Given the description of an element on the screen output the (x, y) to click on. 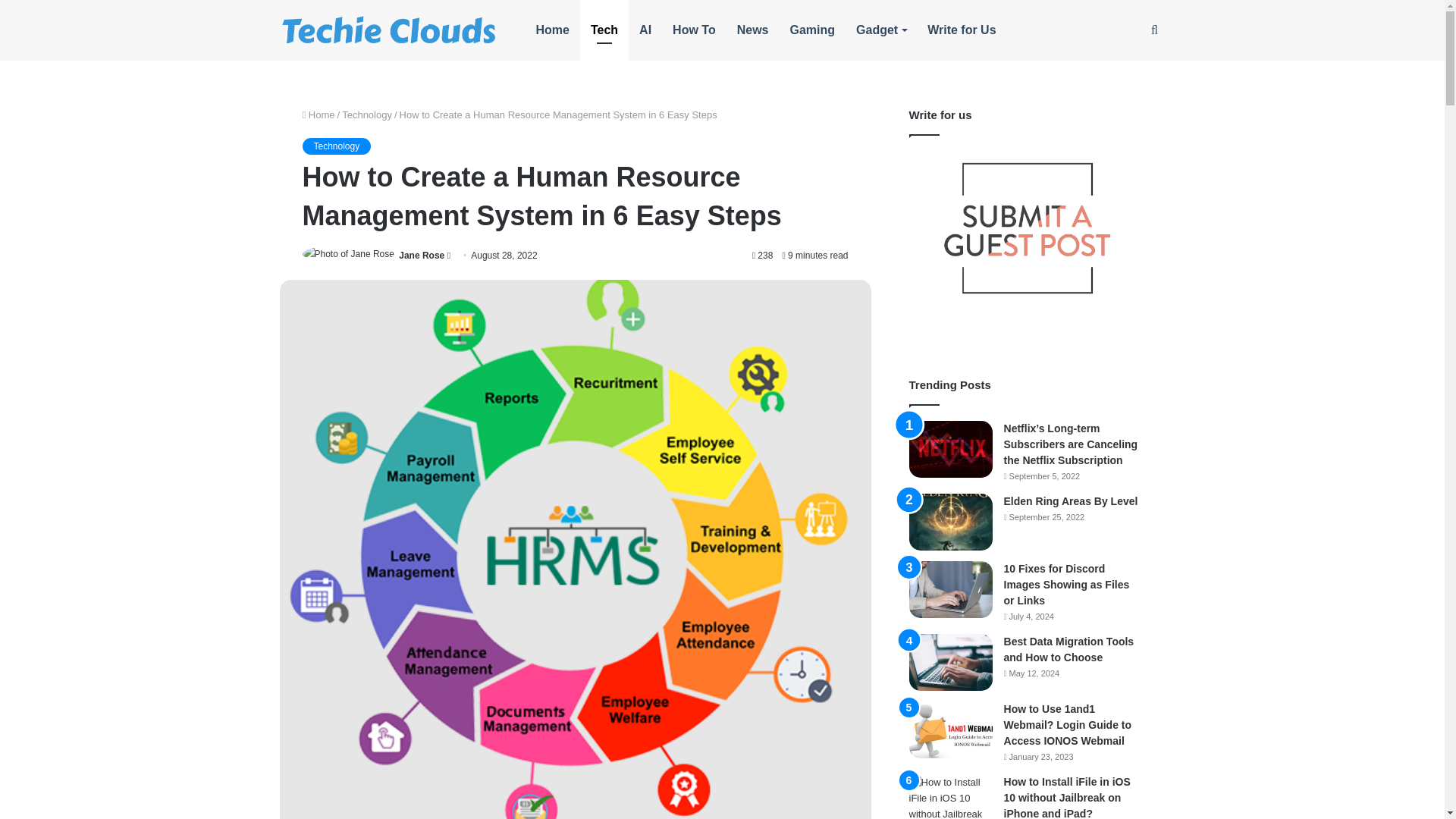
Gadget (881, 30)
Techie Clouds (389, 30)
Write for Us (961, 30)
Home (317, 114)
How To (694, 30)
Technology (366, 114)
Jane Rose (421, 255)
Jane Rose (421, 255)
Technology (336, 146)
Home (551, 30)
